Given the description of an element on the screen output the (x, y) to click on. 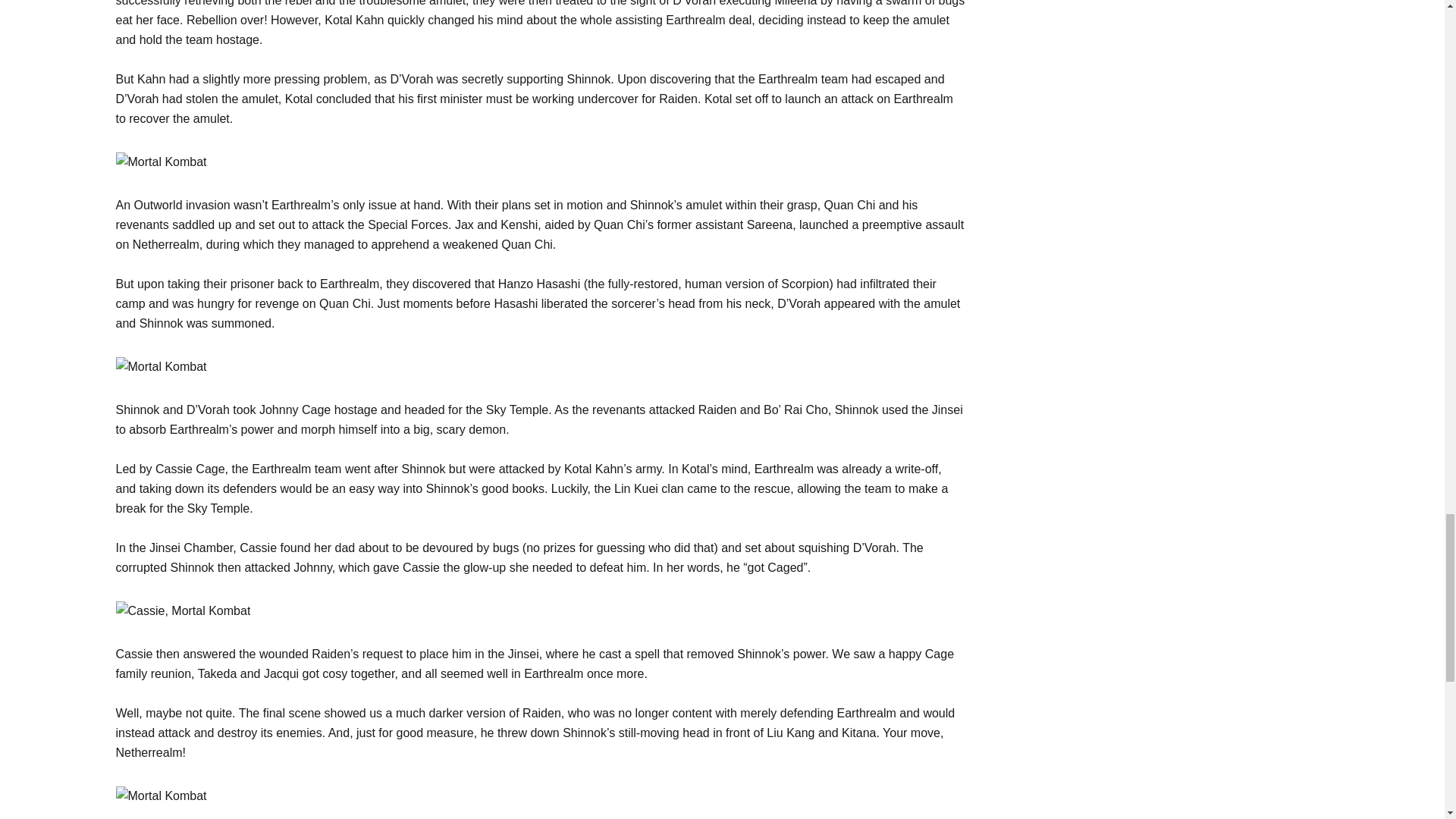
Mortal Kombat (160, 366)
Mortal Kombat (182, 610)
Mortal Kombat (160, 161)
Mortal Kombat (160, 795)
